Given the description of an element on the screen output the (x, y) to click on. 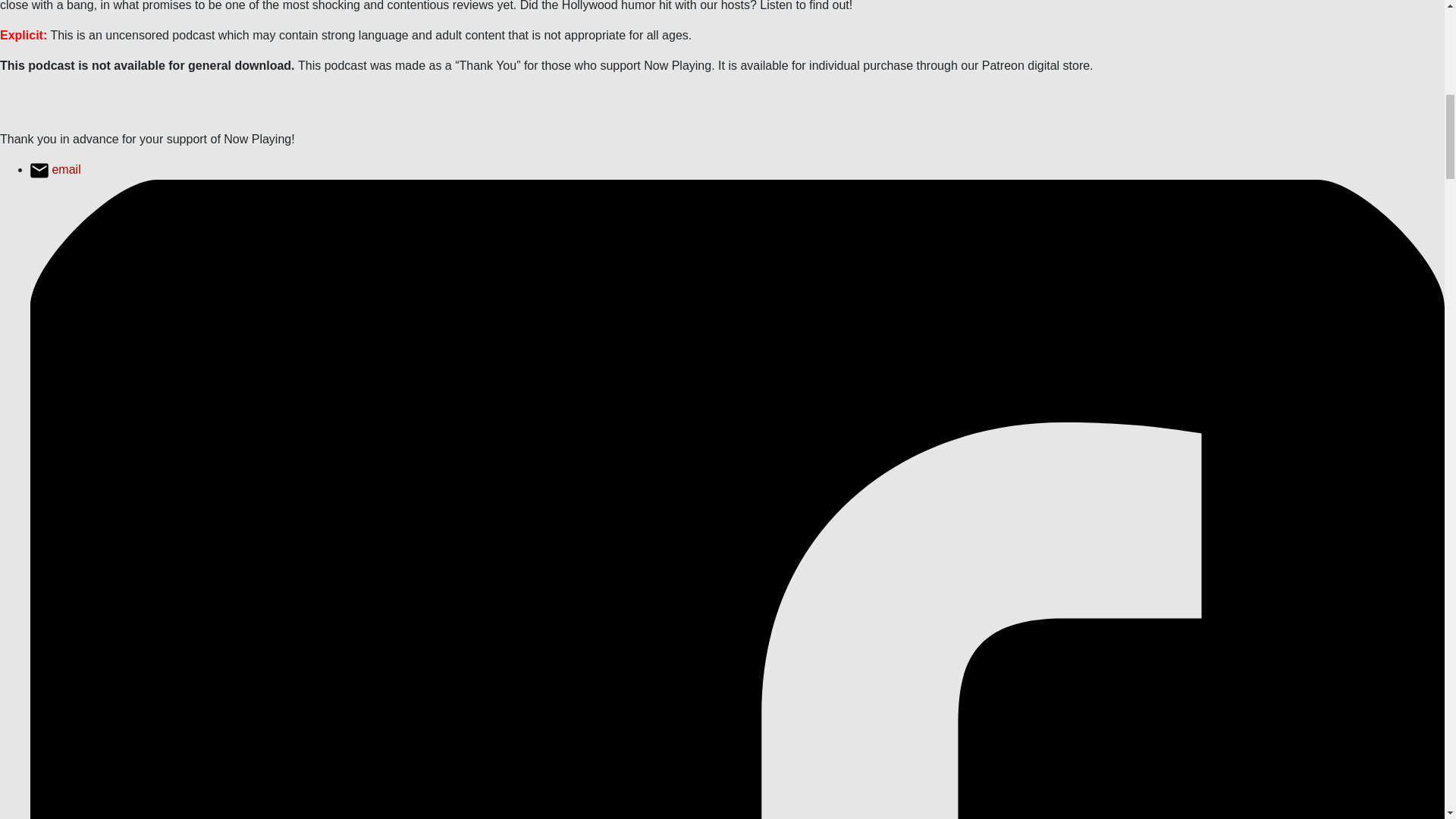
email (55, 169)
